Given the description of an element on the screen output the (x, y) to click on. 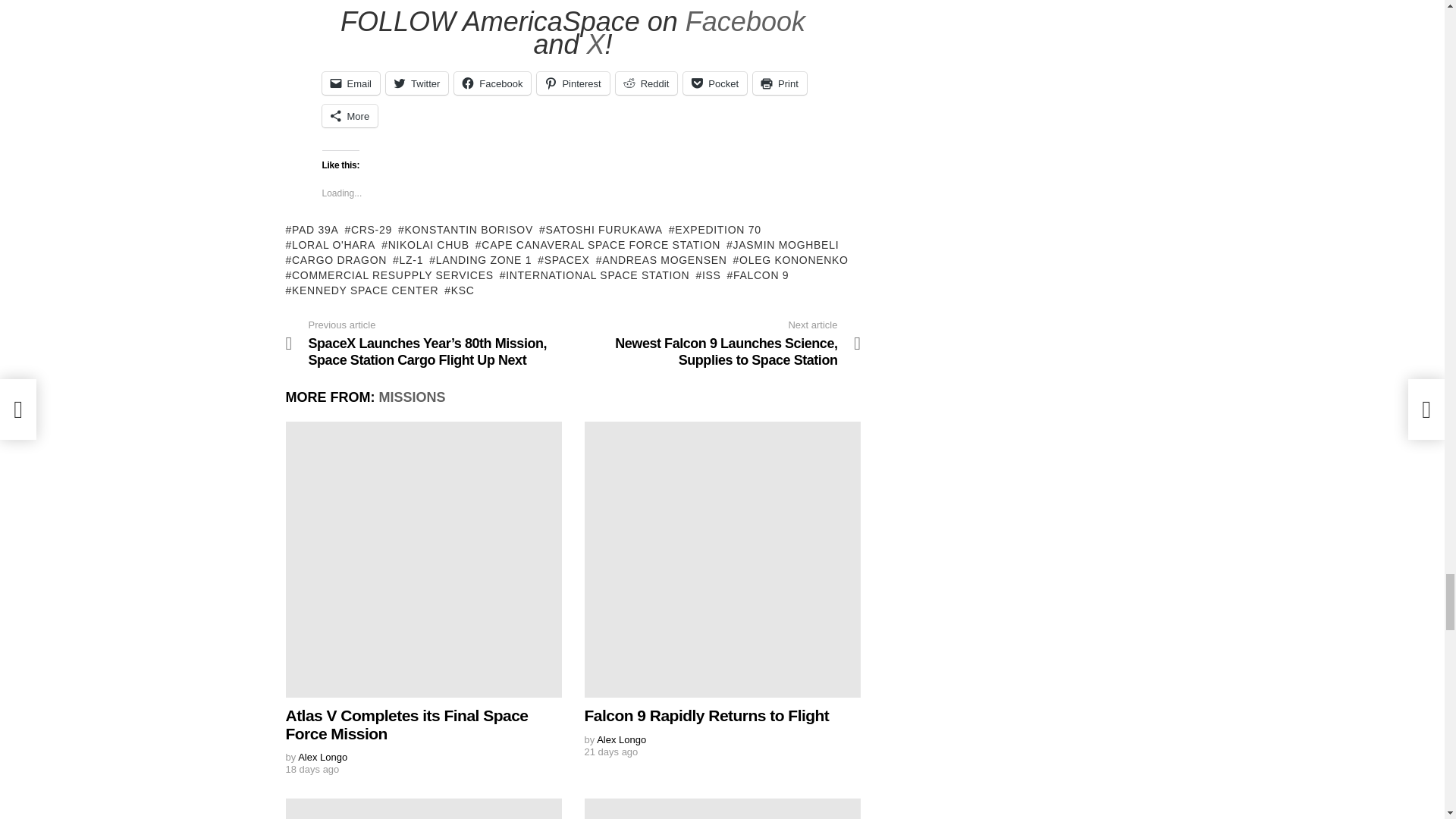
Click to share on Pocket (714, 83)
Click to email a link to a friend (350, 83)
Click to share on Twitter (416, 83)
Click to share on Reddit (646, 83)
Click to print (779, 83)
Click to share on Facebook (492, 83)
Click to share on Pinterest (572, 83)
